Given the description of an element on the screen output the (x, y) to click on. 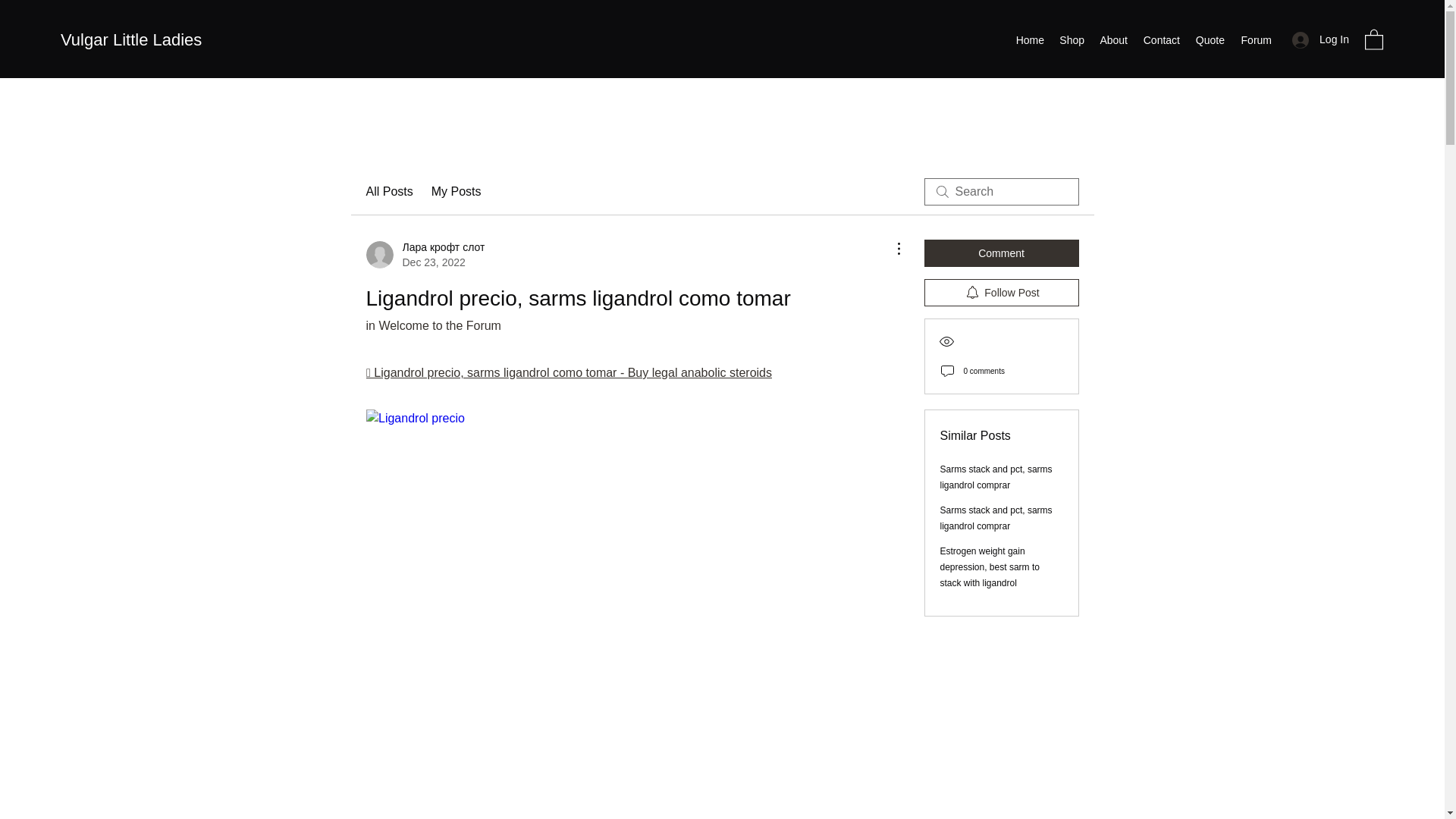
Forum (1255, 39)
Log In (1320, 39)
About (1113, 39)
in Welcome to the Forum (432, 325)
Vulgar Little Ladies (131, 39)
Comment (1000, 252)
All Posts (388, 191)
Follow Post (1000, 292)
Shop (1071, 39)
Home (1029, 39)
